Given the description of an element on the screen output the (x, y) to click on. 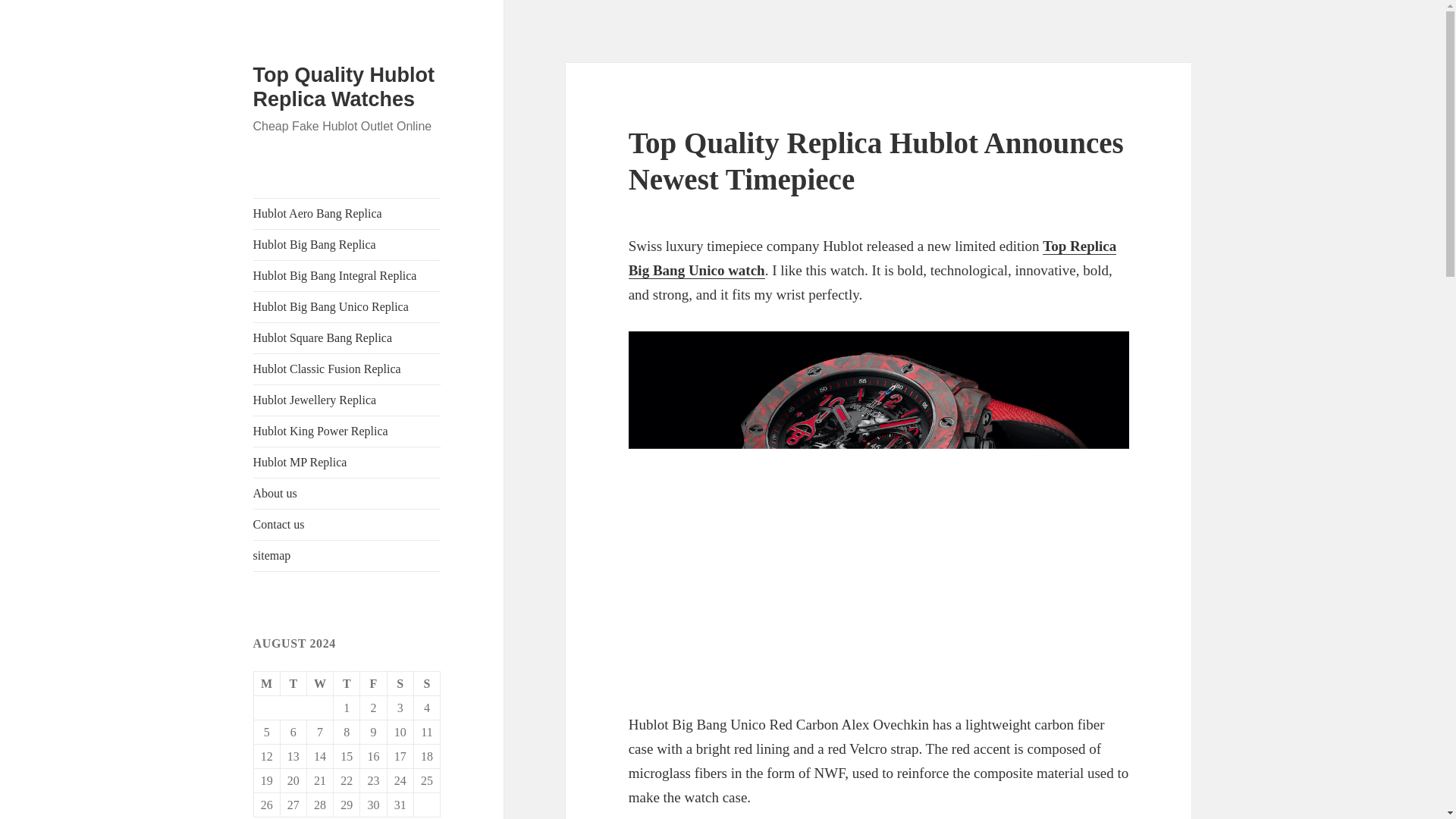
Hublot Jewellery Replica (347, 399)
sitemap (347, 555)
Top Replica Big Bang Unico watch (872, 258)
Hublot Big Bang Unico Replica (347, 306)
Thursday (346, 683)
Hublot MP Replica (347, 462)
Contact us (347, 524)
Tuesday (294, 683)
Friday (373, 683)
Hublot Big Bang Integral Replica (347, 276)
Hublot Big Bang Replica (347, 245)
Wednesday (320, 683)
Saturday (400, 683)
Hublot Classic Fusion Replica (347, 368)
About us (347, 493)
